Given the description of an element on the screen output the (x, y) to click on. 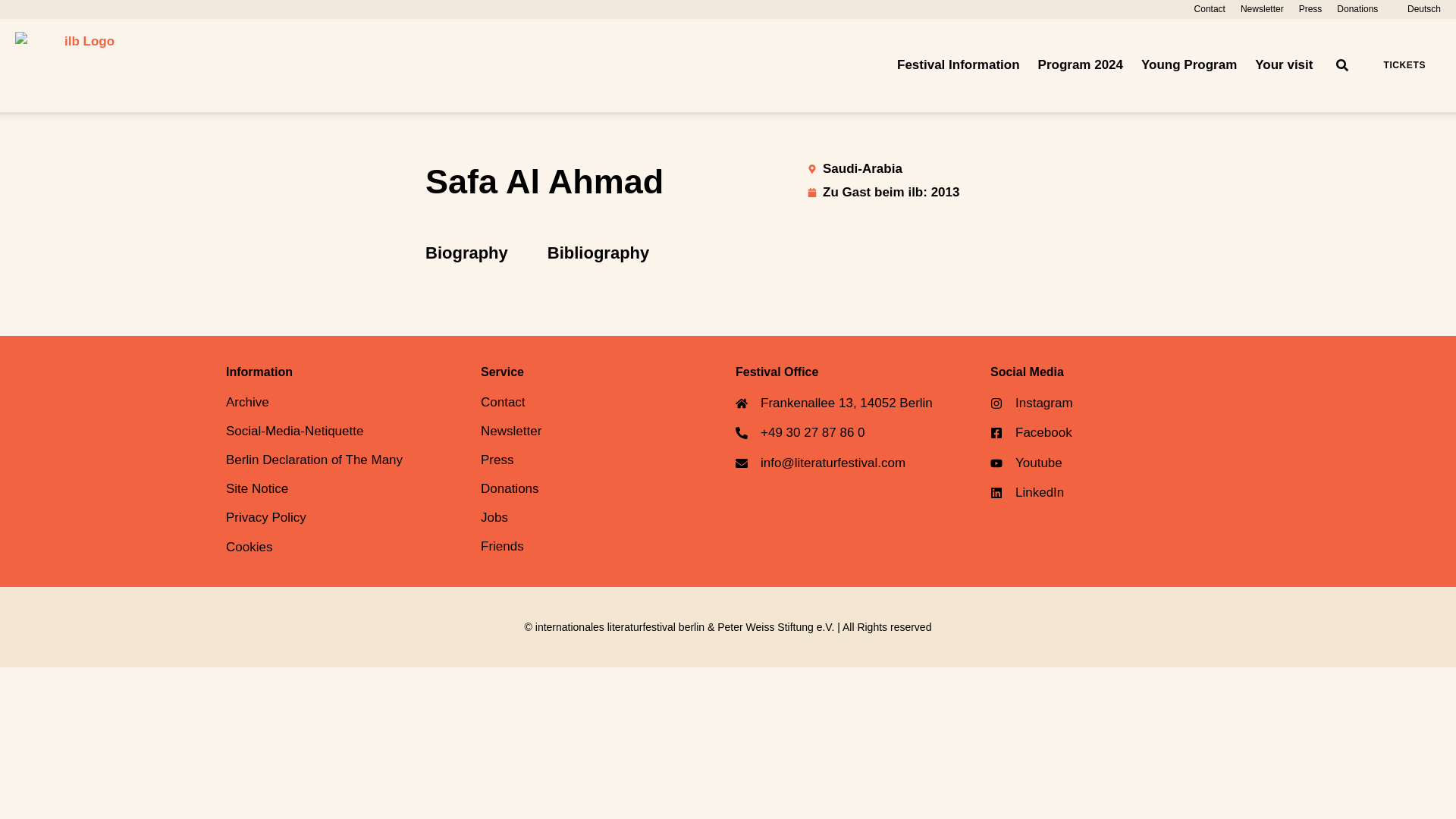
Newsletter (1262, 8)
Young Program (1189, 64)
Your visit (1283, 64)
Press (1310, 8)
Deutsch (1417, 8)
Deutsch (1417, 8)
Program 2024 (1080, 64)
Donations (1356, 8)
Festival Information (958, 64)
Contact (1209, 8)
